Given the description of an element on the screen output the (x, y) to click on. 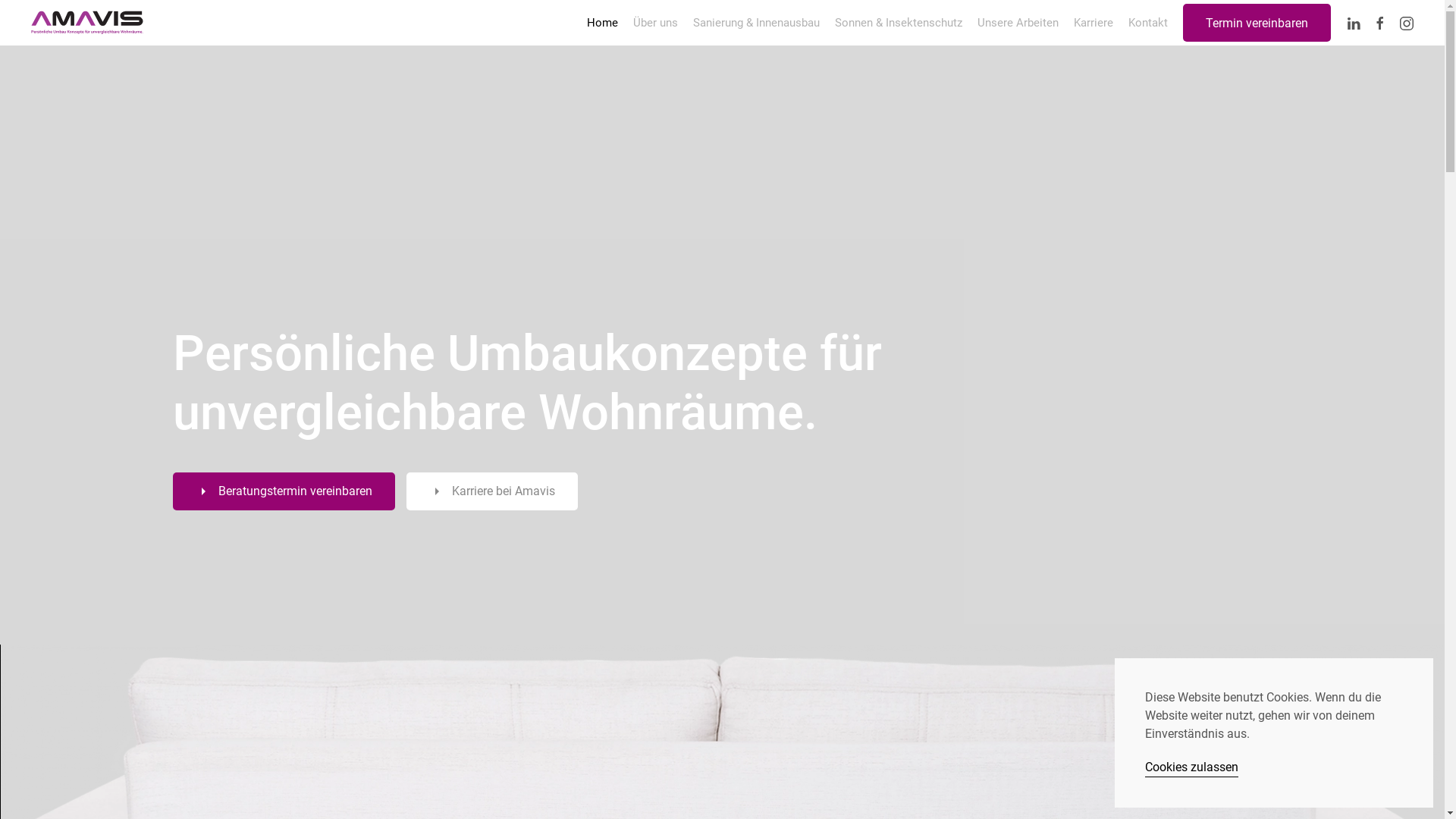
Sanierung & Innenausbau Element type: text (756, 22)
Termin vereinbaren Element type: text (1256, 22)
Sonnen & Insektenschutz Element type: text (898, 22)
Unsere Arbeiten Element type: text (1017, 22)
Cookies zulassen Element type: text (1191, 767)
Beratungstermin vereinbaren Element type: text (283, 491)
Home Element type: text (602, 22)
Karriere Element type: text (1093, 22)
Karriere bei Amavis Element type: text (491, 491)
Kontakt Element type: text (1147, 22)
